Given the description of an element on the screen output the (x, y) to click on. 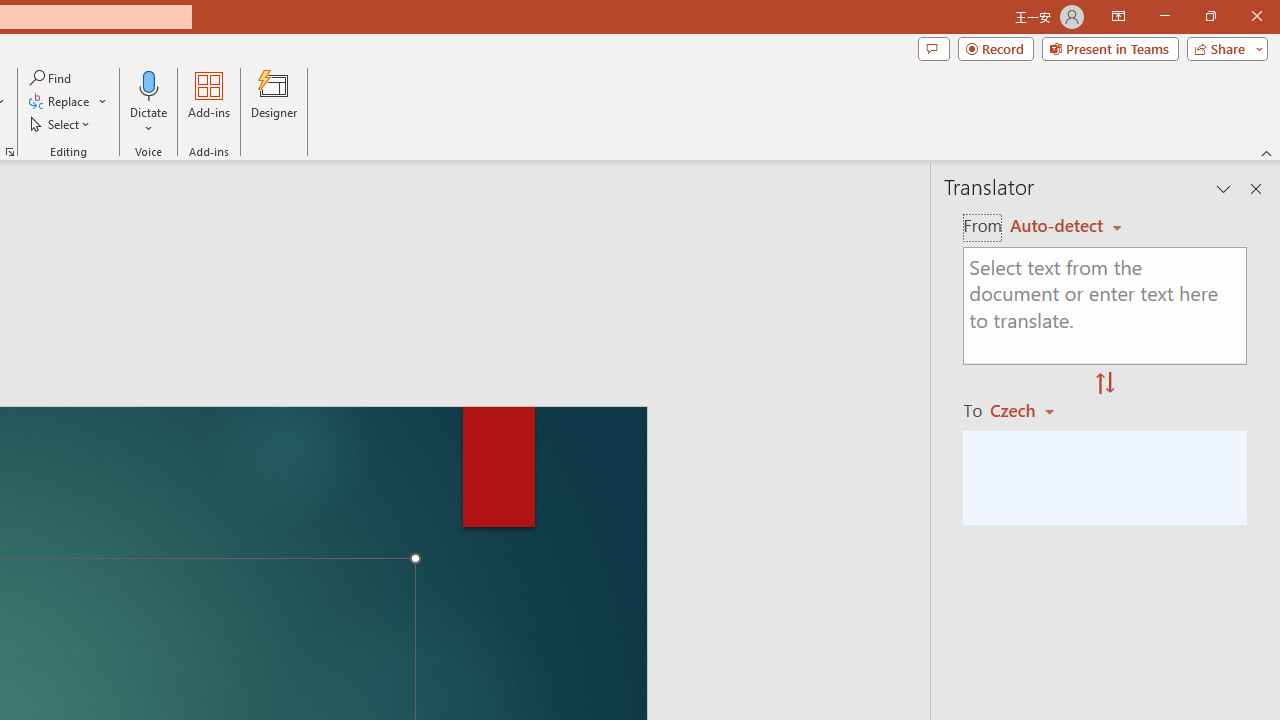
Auto-detect (1066, 225)
Swap "from" and "to" languages. (1105, 383)
